Given the description of an element on the screen output the (x, y) to click on. 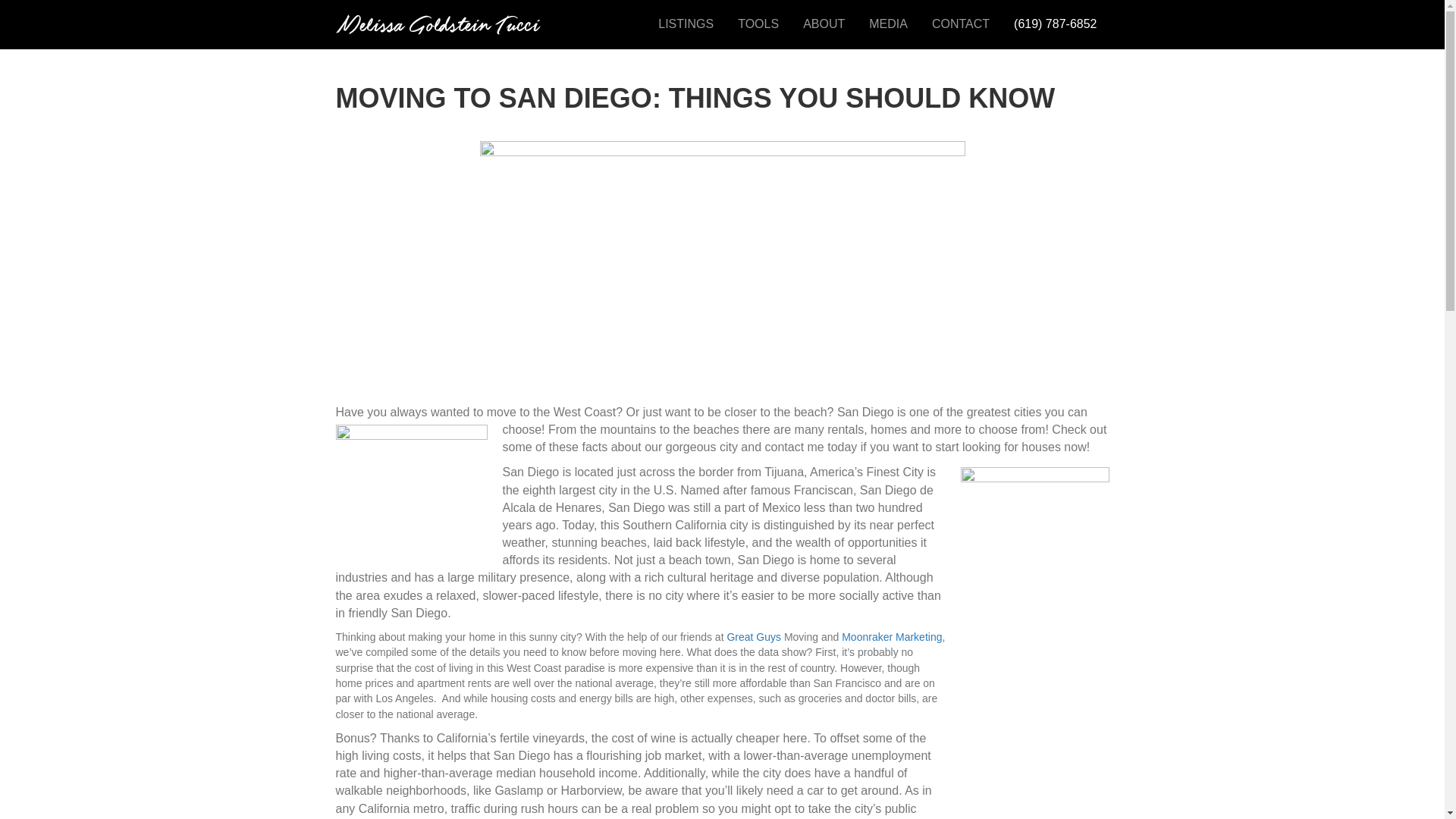
LISTINGS (685, 24)
CONTACT (960, 24)
MEDIA (888, 24)
TOOLS (757, 24)
Moonraker Marketing (891, 636)
Great Guys (753, 636)
ABOUT (823, 24)
